Given the description of an element on the screen output the (x, y) to click on. 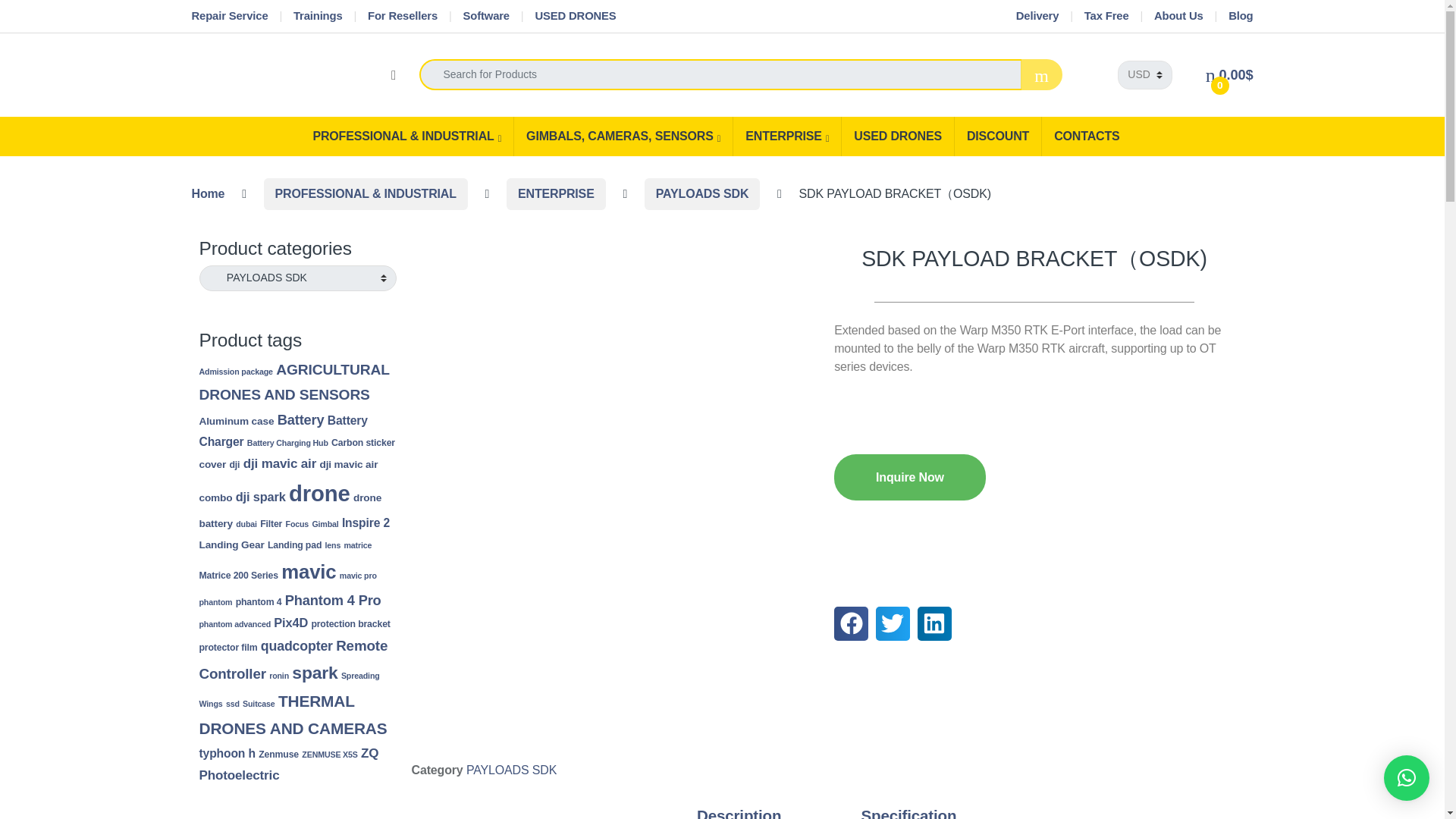
Software (485, 16)
Repair Service (228, 16)
Delivery (1037, 16)
USED DRONES (574, 16)
Repair Service (228, 16)
USED DRONES (574, 16)
About Us (1179, 16)
For Resellers (403, 16)
Trainings (318, 16)
Trainings (318, 16)
About Us (1179, 16)
Tax Free (1106, 16)
Tax Free (1106, 16)
For Resellers (403, 16)
Software (485, 16)
